Given the description of an element on the screen output the (x, y) to click on. 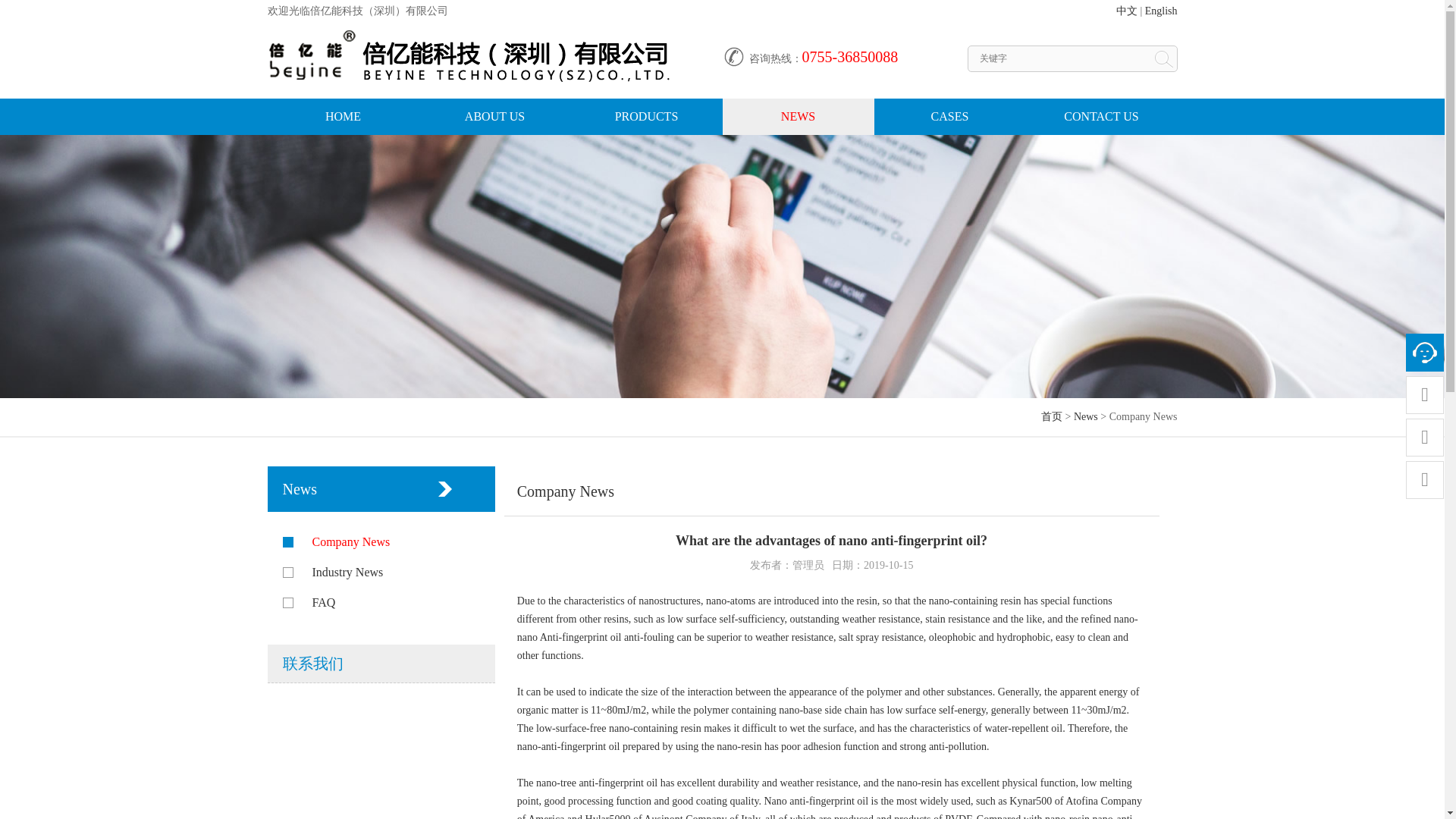
Contact Us (1100, 116)
News (797, 116)
CONTACT US (1100, 116)
HOME (342, 116)
English (1160, 10)
NEWS (797, 116)
About Us (494, 116)
Home (342, 116)
Products (646, 116)
Cases (949, 116)
ABOUT US (494, 116)
CASES (949, 116)
PRODUCTS (646, 116)
